Given the description of an element on the screen output the (x, y) to click on. 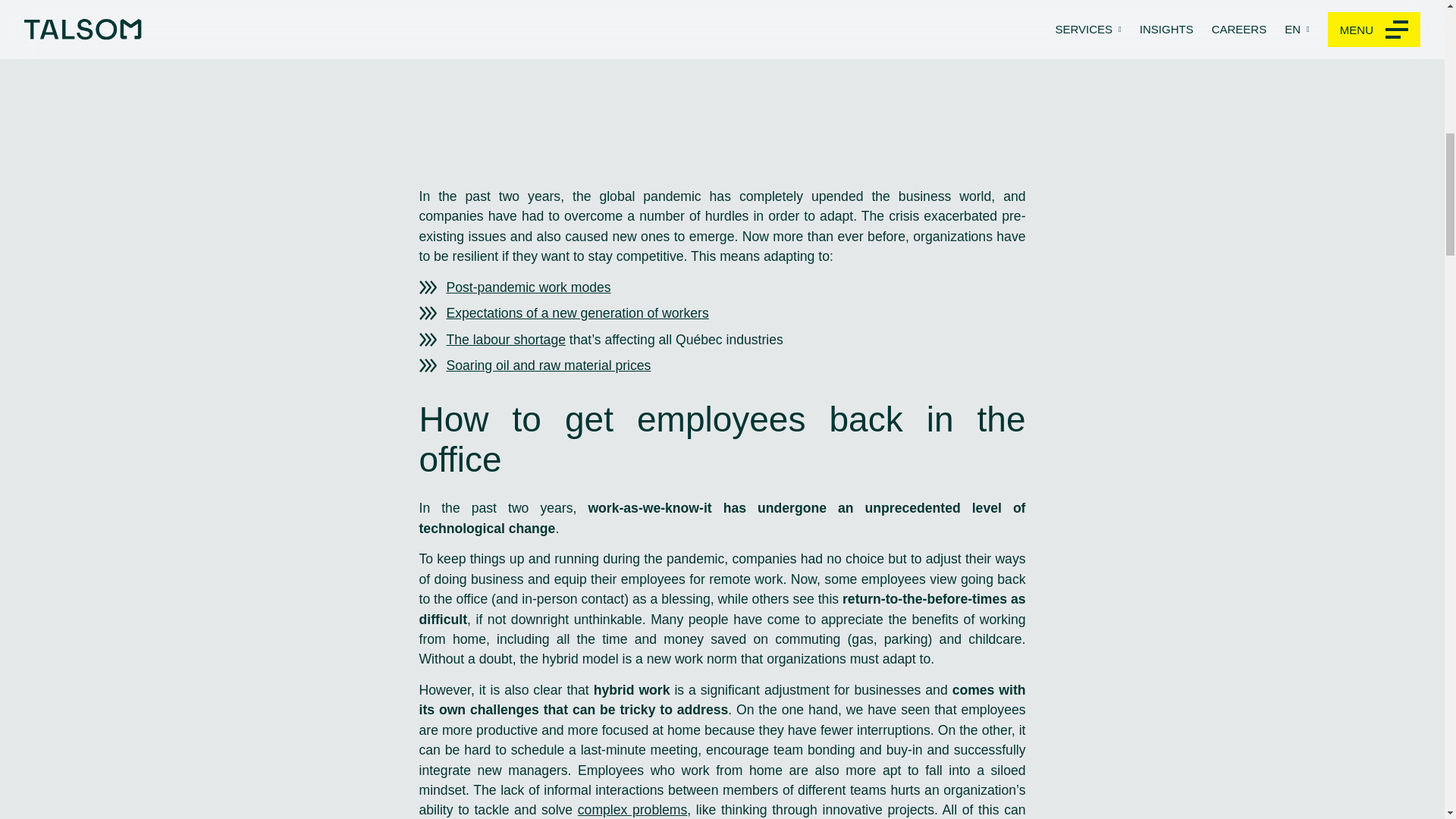
Post-pandemic work modes (526, 287)
Expectations of a new generation of workers (574, 313)
Soaring oil and raw material prices (546, 365)
The labour shortage (503, 339)
